Given the description of an element on the screen output the (x, y) to click on. 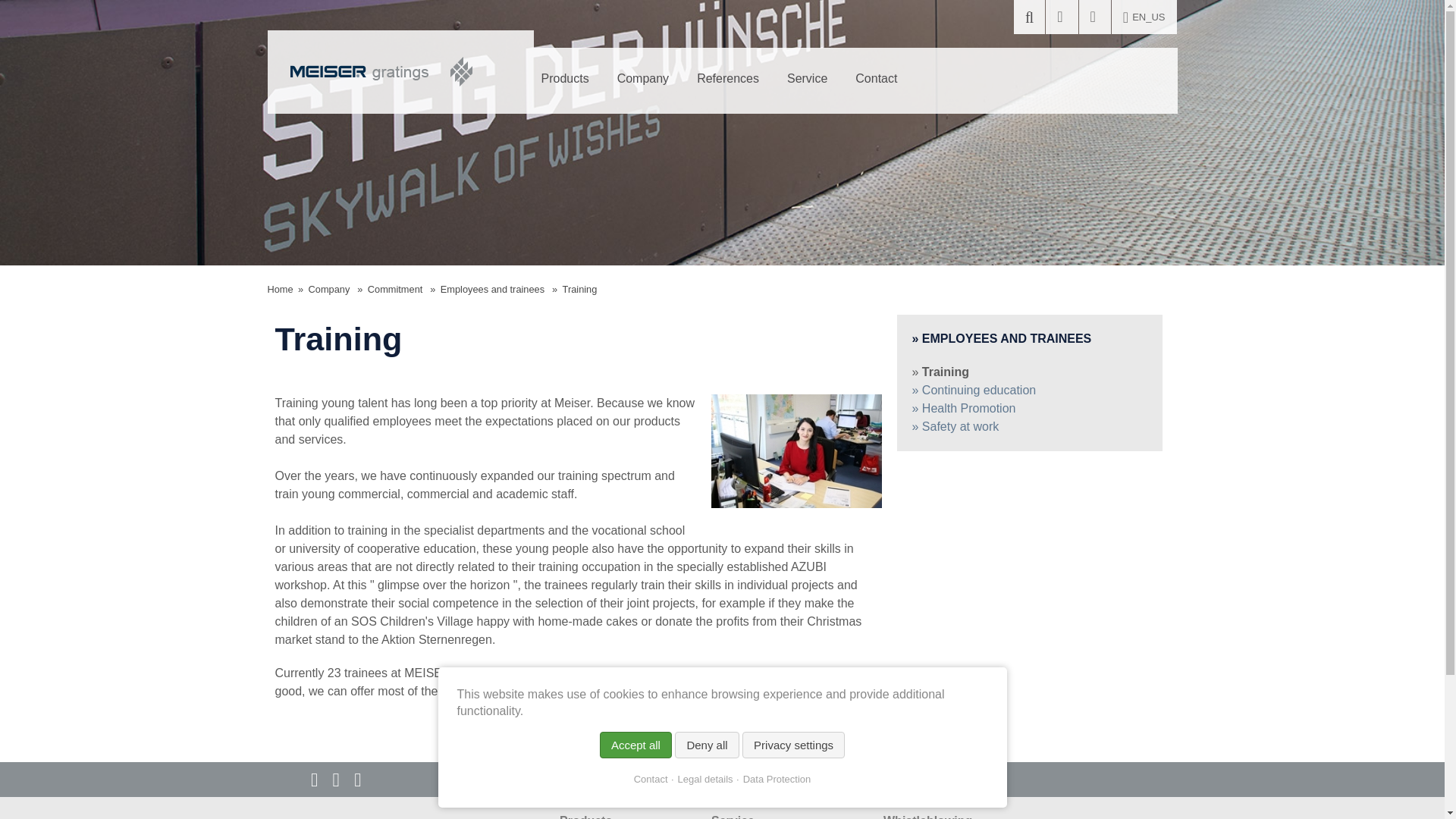
MEISER Gratings USA (380, 71)
Products (565, 78)
Company (643, 78)
